Given the description of an element on the screen output the (x, y) to click on. 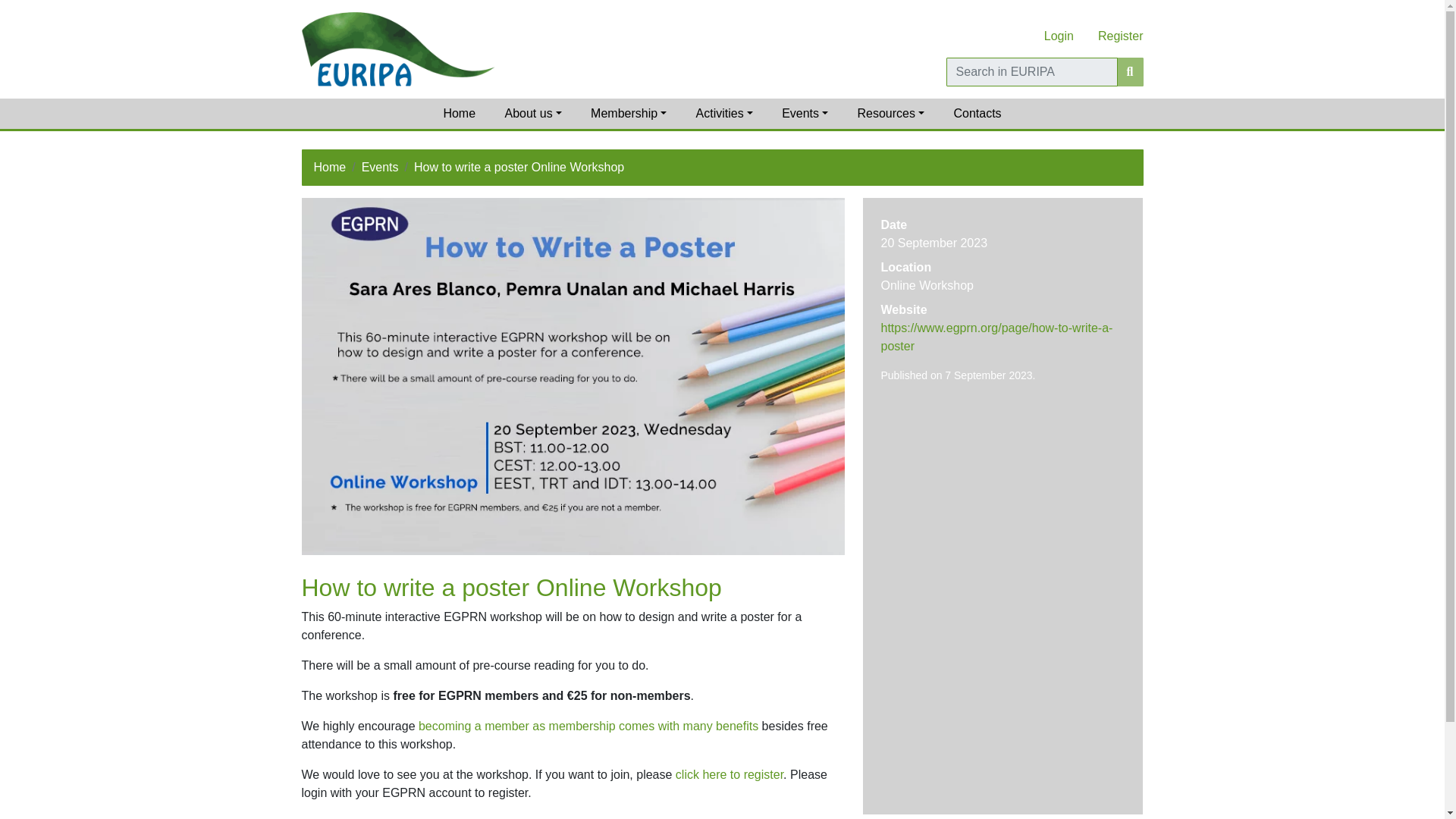
About us (532, 113)
Resources (891, 113)
Home (458, 113)
Membership (628, 113)
Activities (724, 113)
Events (379, 166)
click here to register (729, 774)
How to write a poster Online Workshop (518, 166)
Events (805, 113)
becoming a member as membership comes with many benefits (588, 725)
